Given the description of an element on the screen output the (x, y) to click on. 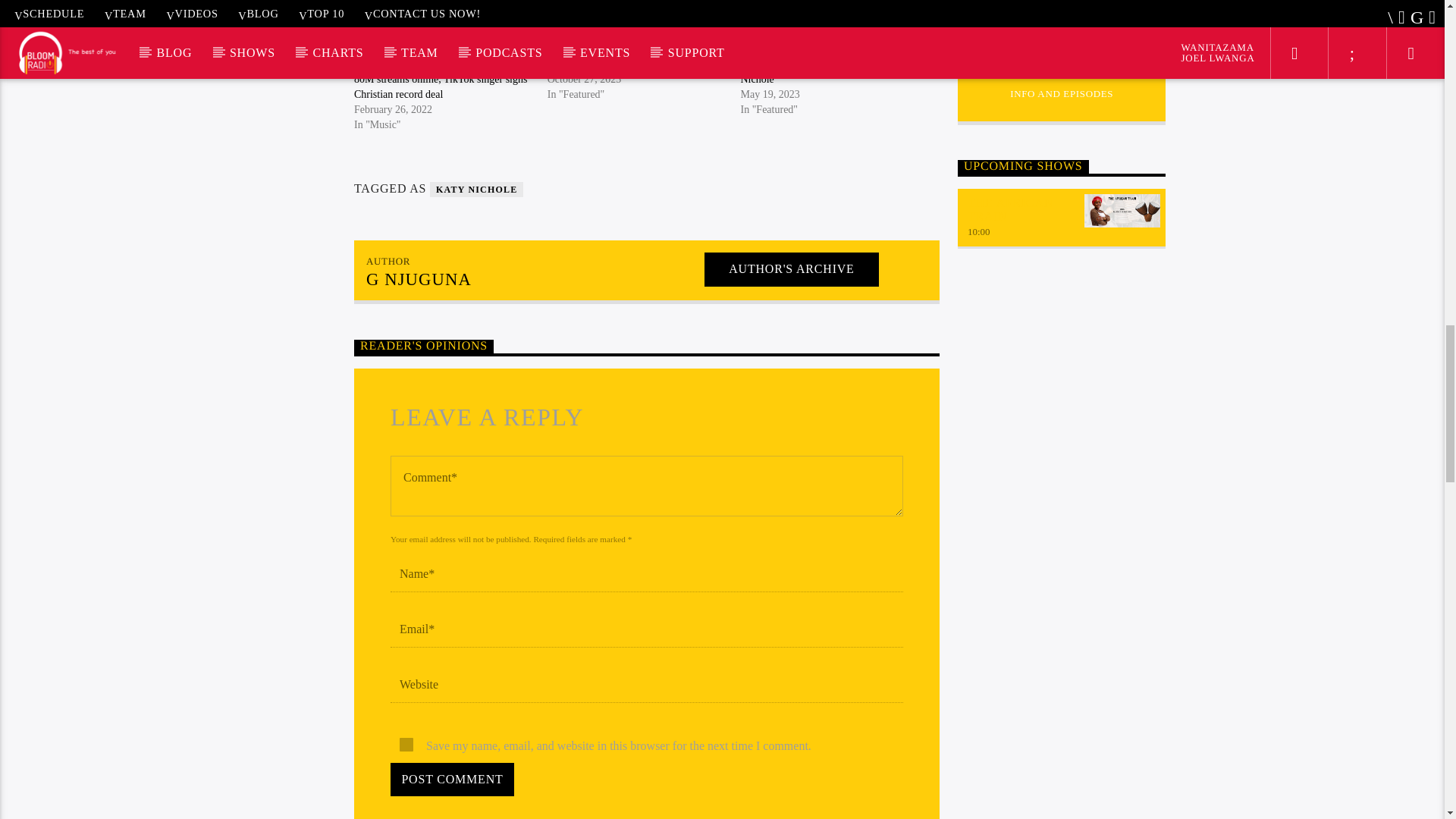
Get to Know Katy Nichole (604, 63)
Post Comment (451, 779)
